Given the description of an element on the screen output the (x, y) to click on. 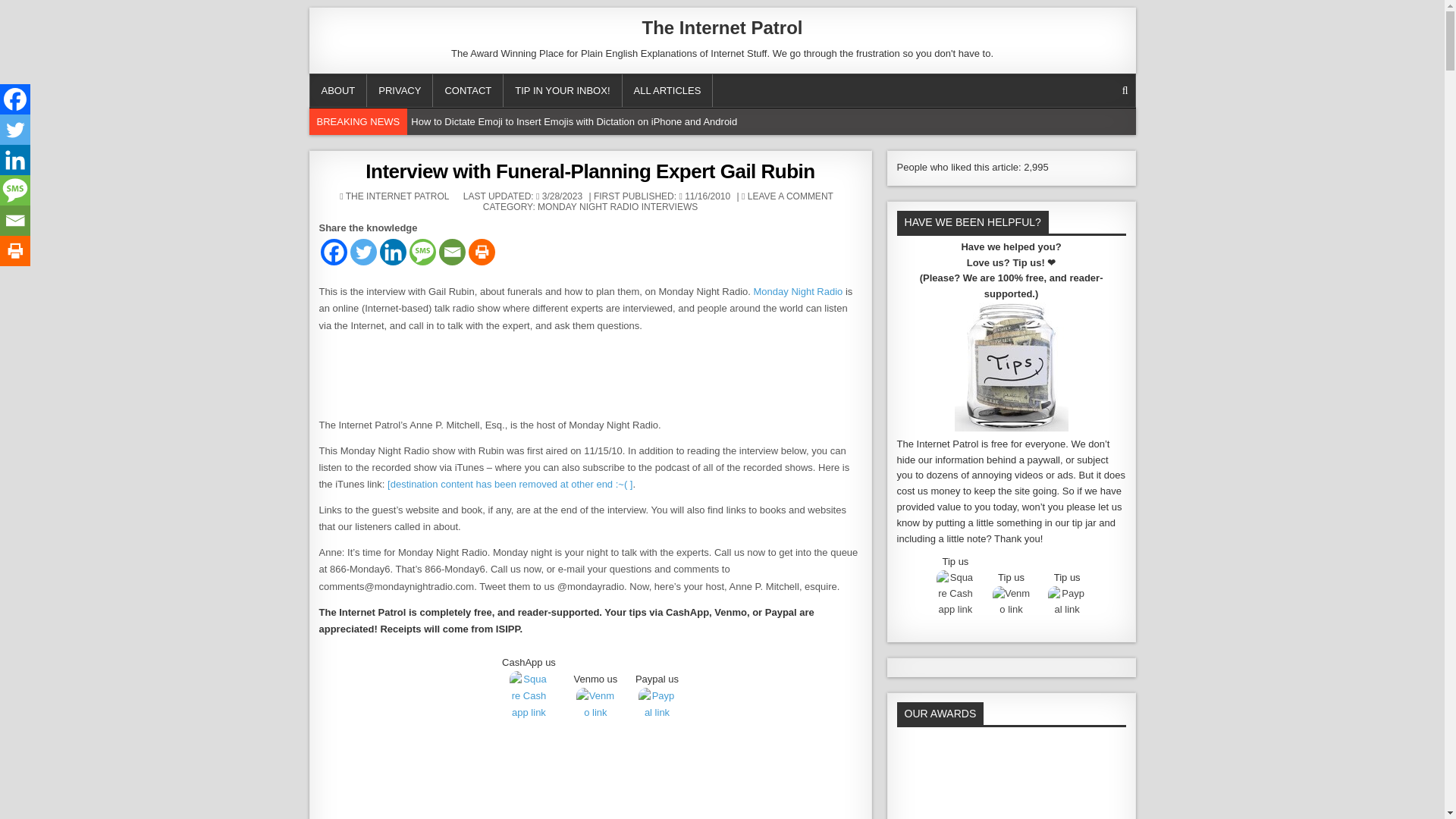
THE INTERNET PATROL (397, 195)
Twitter (363, 252)
LEAVE A COMMENT (790, 195)
CONTACT (467, 90)
Search (1125, 90)
Linkedin (392, 252)
SMS (422, 252)
Email (451, 252)
Facebook (333, 252)
The Internet Patrol (722, 27)
ABOUT (337, 90)
TIP IN YOUR INBOX! (562, 90)
Monday Night Radio (798, 291)
